Given the description of an element on the screen output the (x, y) to click on. 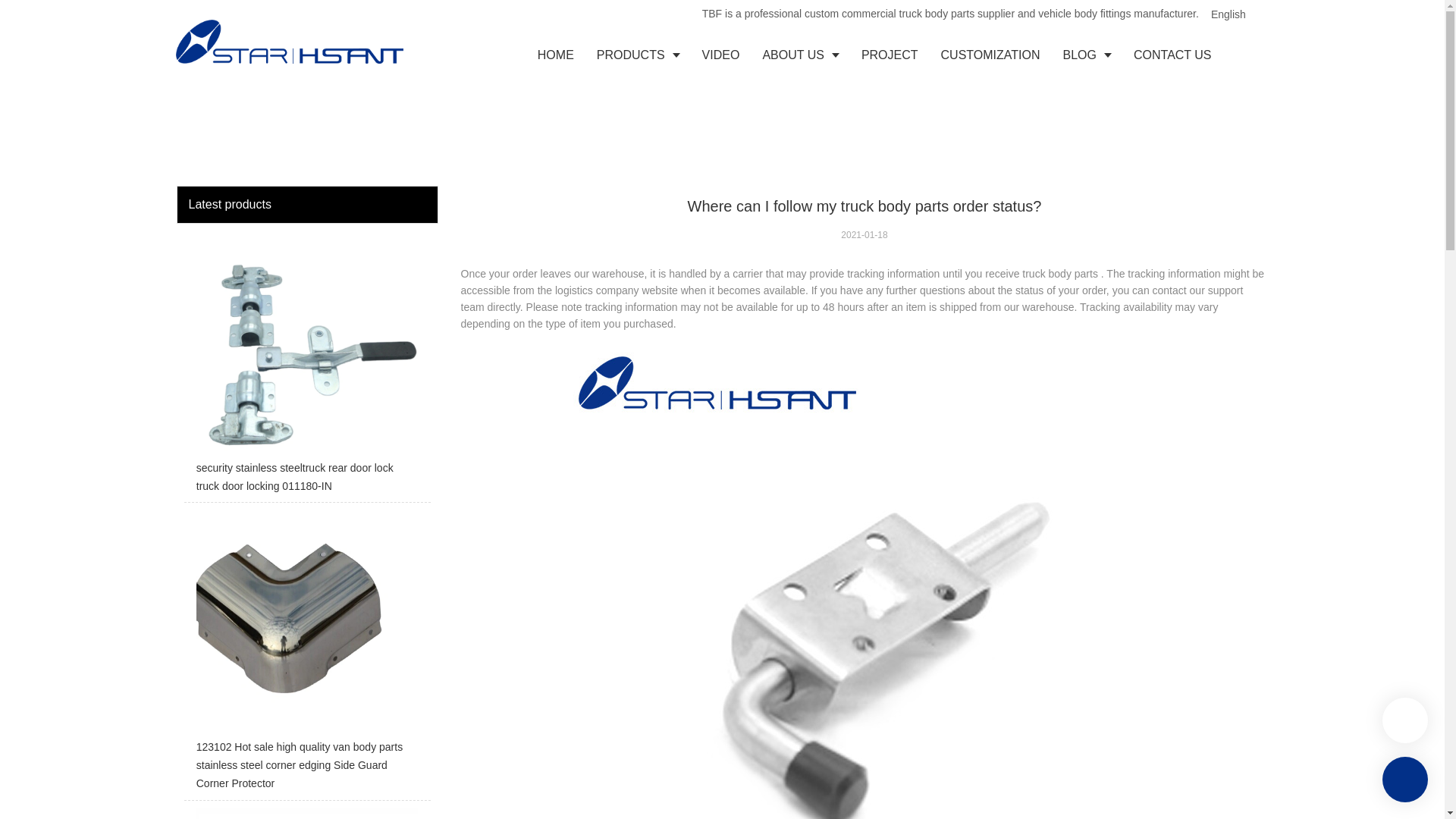
HOME (555, 55)
PRODUCTS (637, 55)
